Given the description of an element on the screen output the (x, y) to click on. 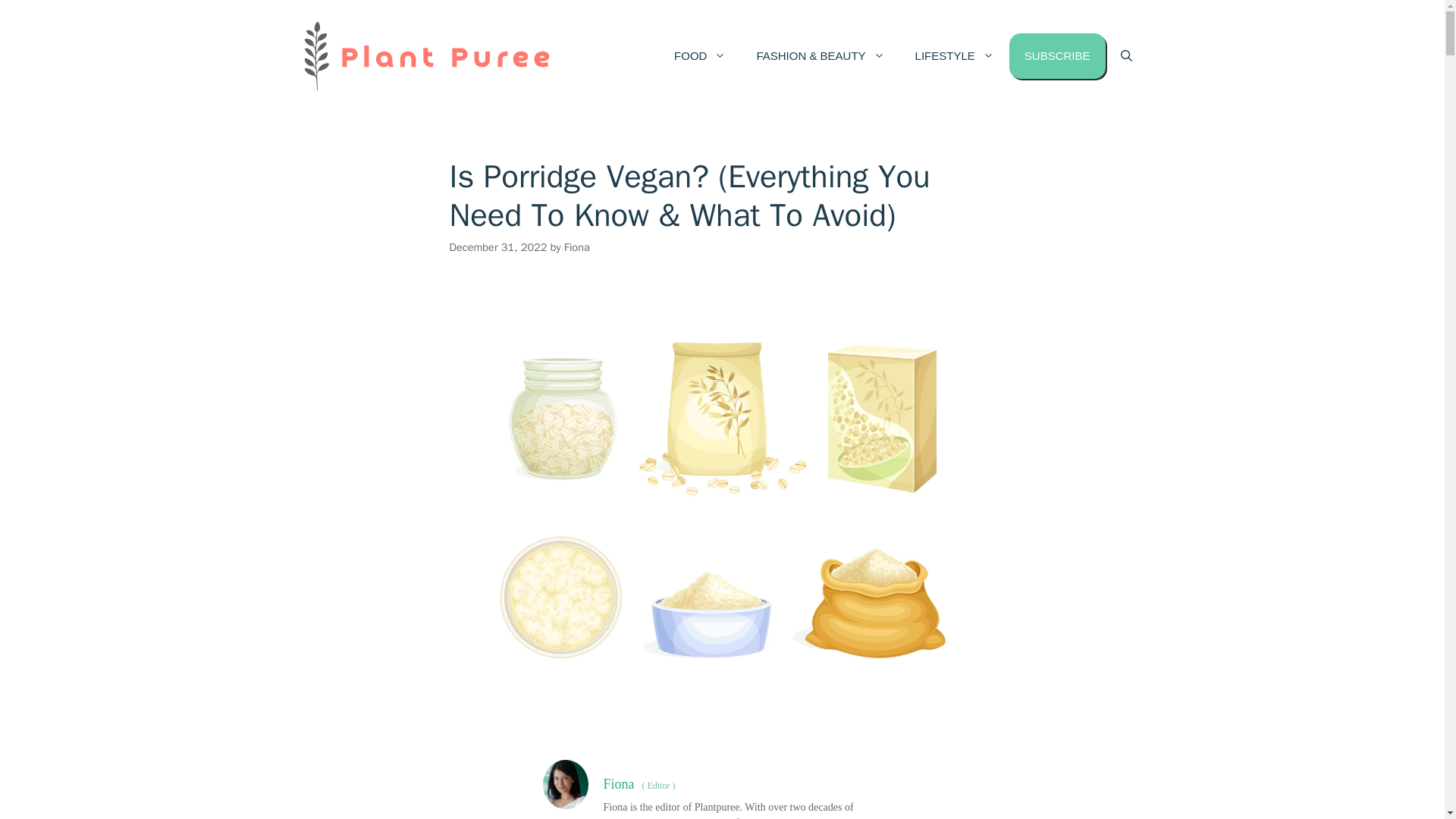
Fiona (576, 246)
FOOD (700, 55)
LIFESTYLE (954, 55)
View all posts by Fiona (576, 246)
SUBSCRIBE (1057, 55)
